Given the description of an element on the screen output the (x, y) to click on. 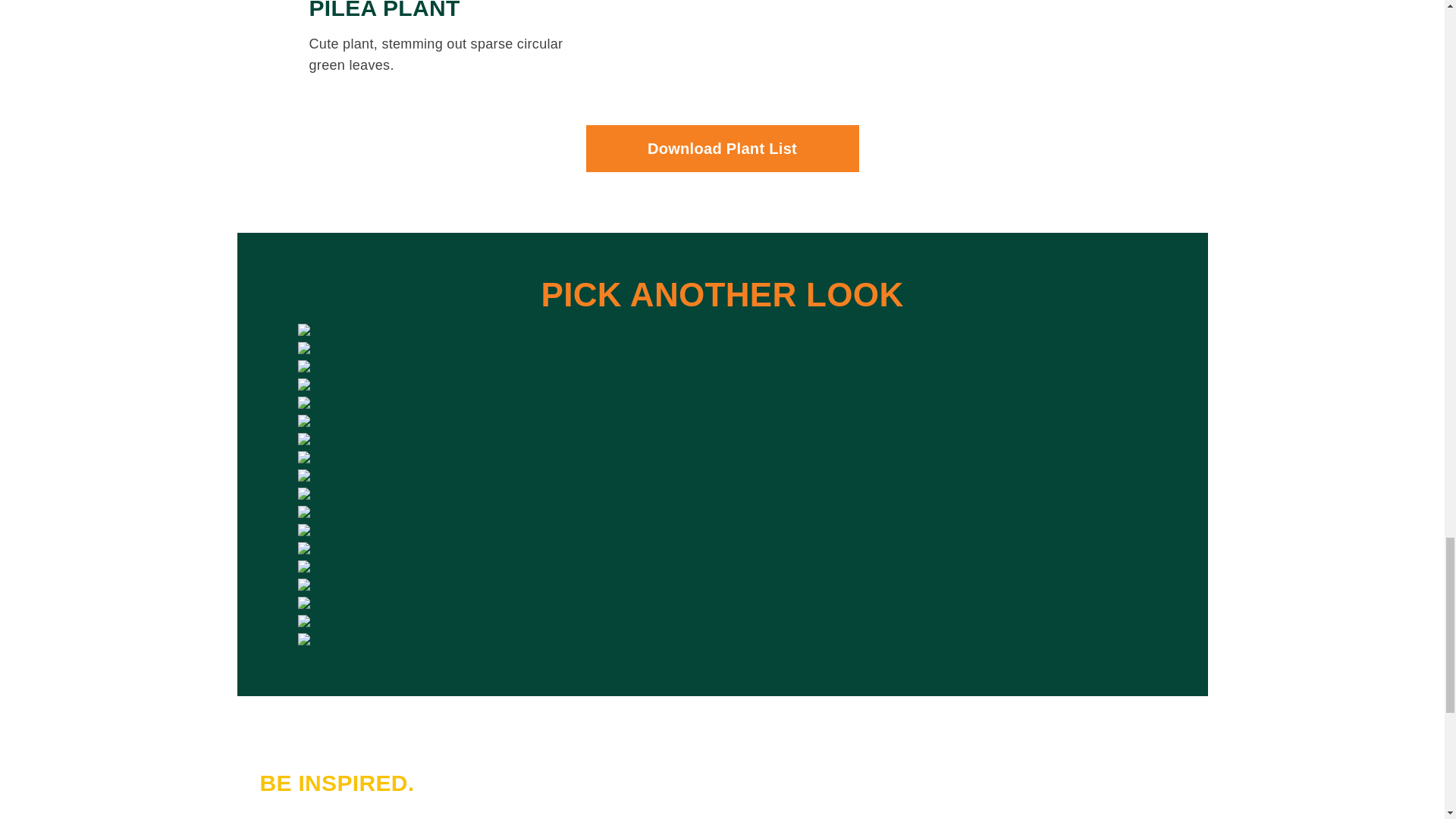
Download Plant List (722, 148)
